Given the description of an element on the screen output the (x, y) to click on. 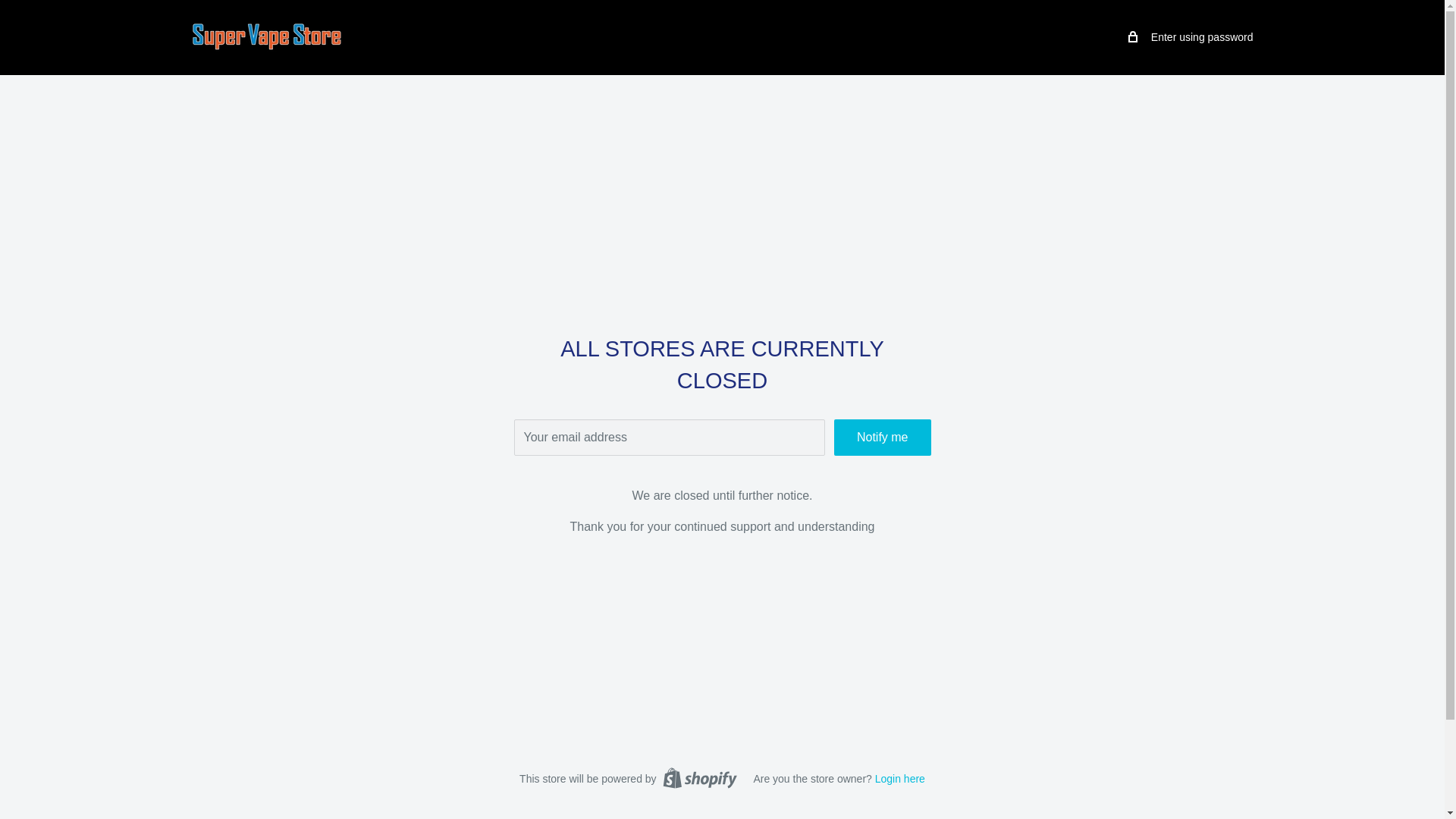
Login here (899, 778)
Notify me (882, 437)
Enter using password (1190, 36)
Create your own online store with Shopify (699, 777)
